Given the description of an element on the screen output the (x, y) to click on. 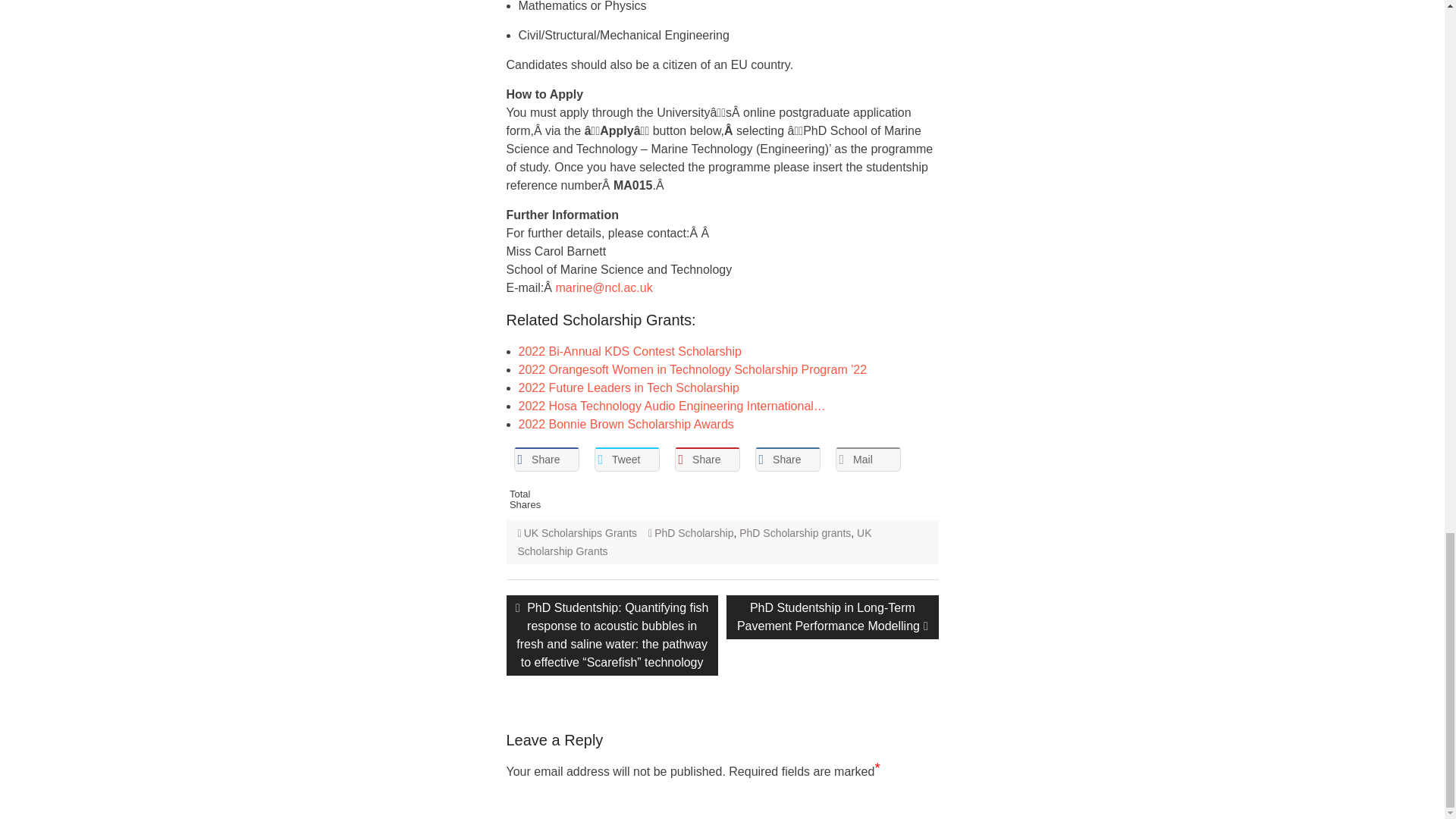
Share on Twitter (626, 459)
Share it on Email (868, 459)
Share on Pinterest (707, 459)
Share on Facebook (546, 459)
Share on LinkedIn (788, 459)
